Given the description of an element on the screen output the (x, y) to click on. 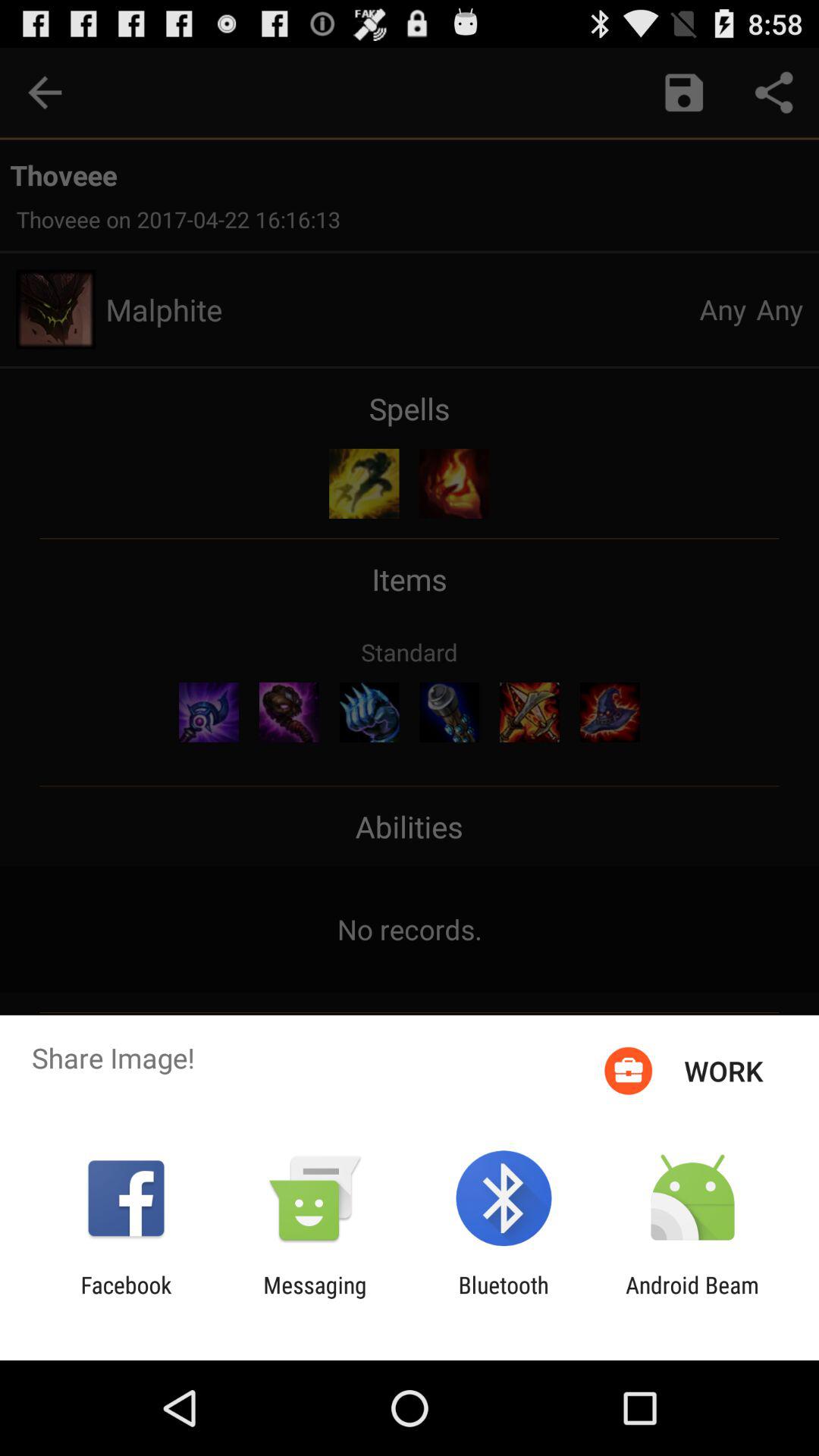
flip until the messaging icon (314, 1298)
